Given the description of an element on the screen output the (x, y) to click on. 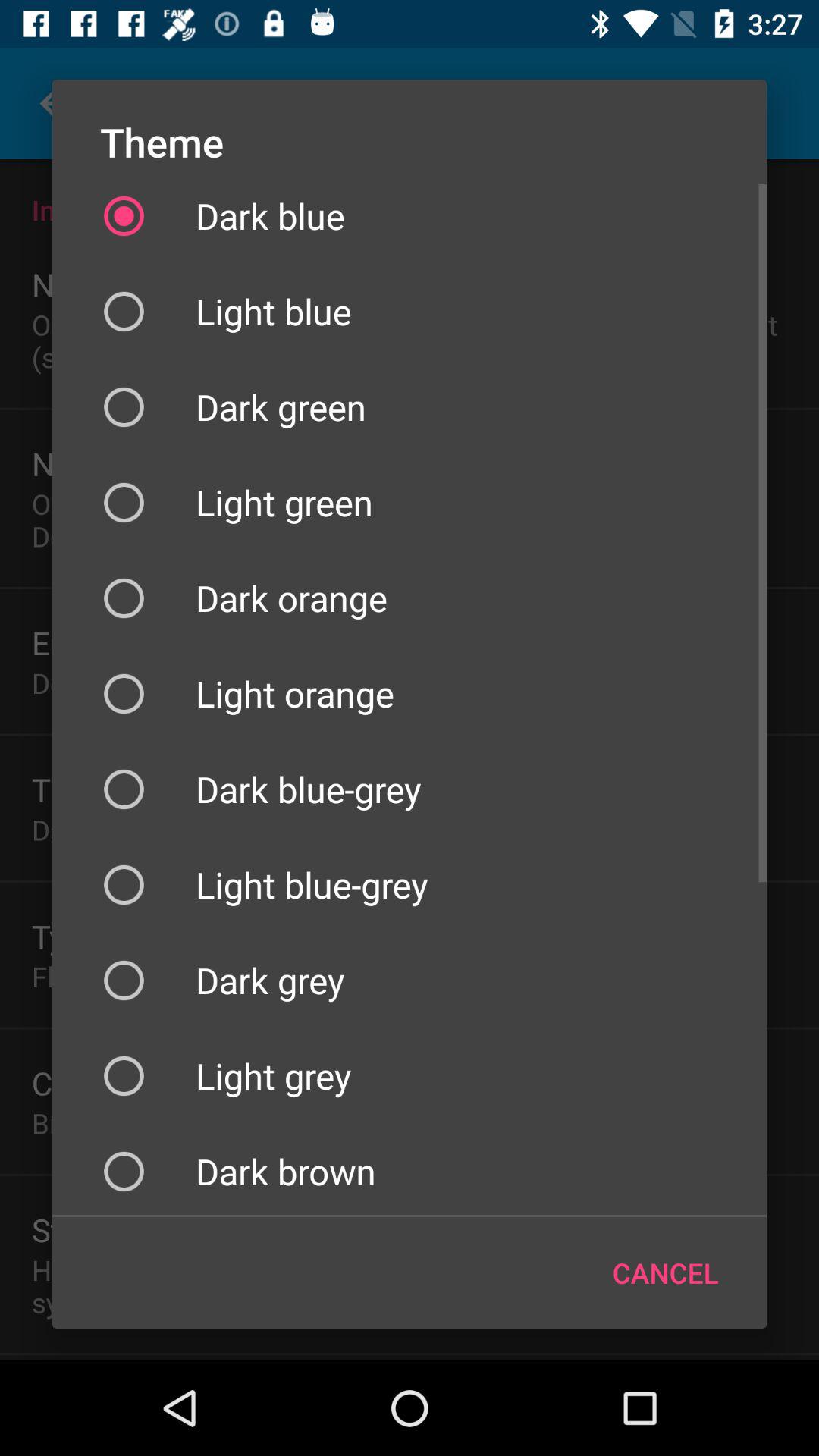
choose the item below dark brown item (665, 1272)
